Given the description of an element on the screen output the (x, y) to click on. 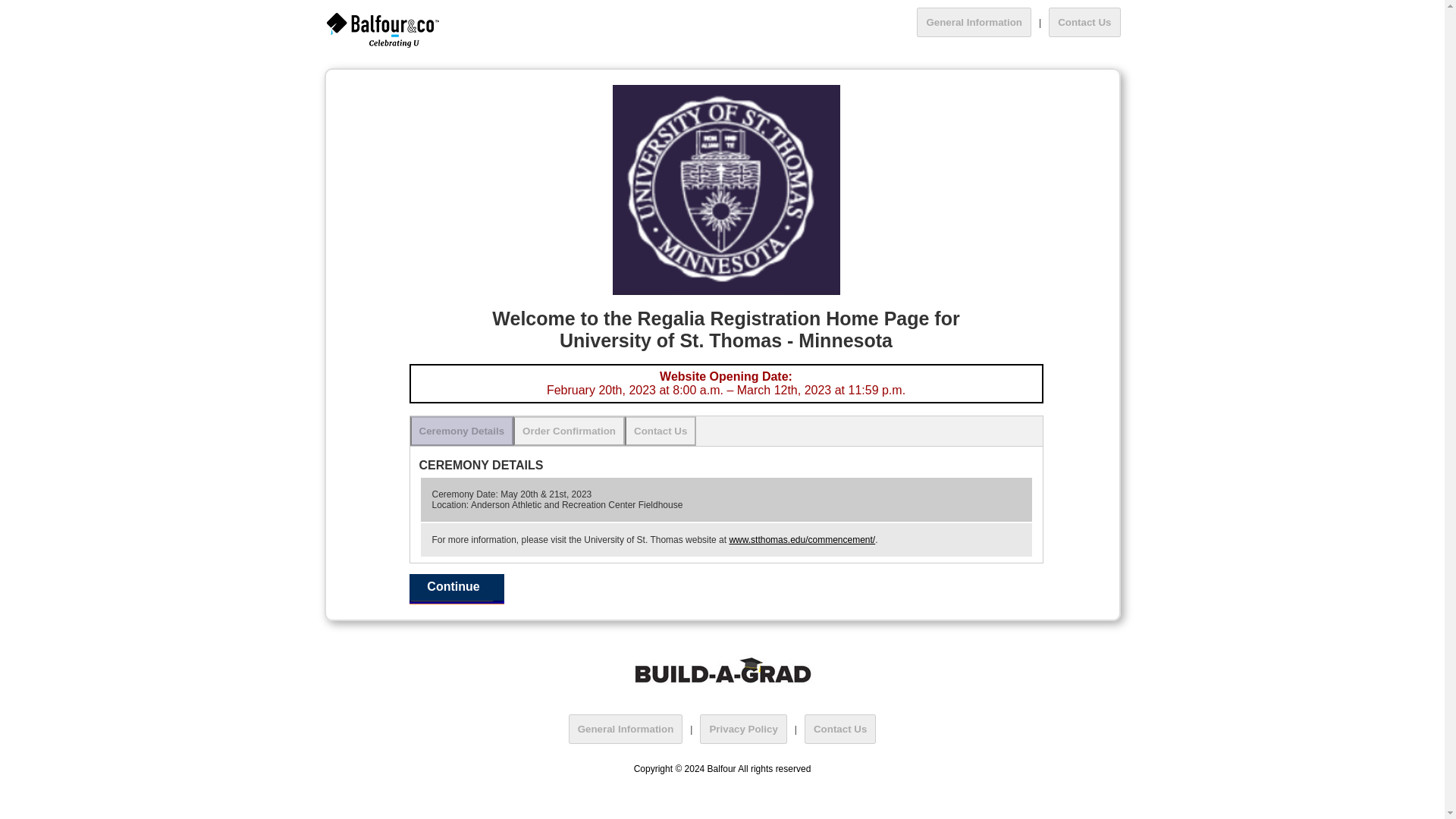
General Information (973, 21)
General Information (625, 728)
Contact Us (840, 728)
Continue (456, 589)
Order Confirmation (568, 430)
Privacy Policy (743, 728)
Contact Us (659, 430)
Contact Us (1083, 21)
Ceremony Details (461, 430)
University of St. Thomas - Minnesota (726, 189)
